Given the description of an element on the screen output the (x, y) to click on. 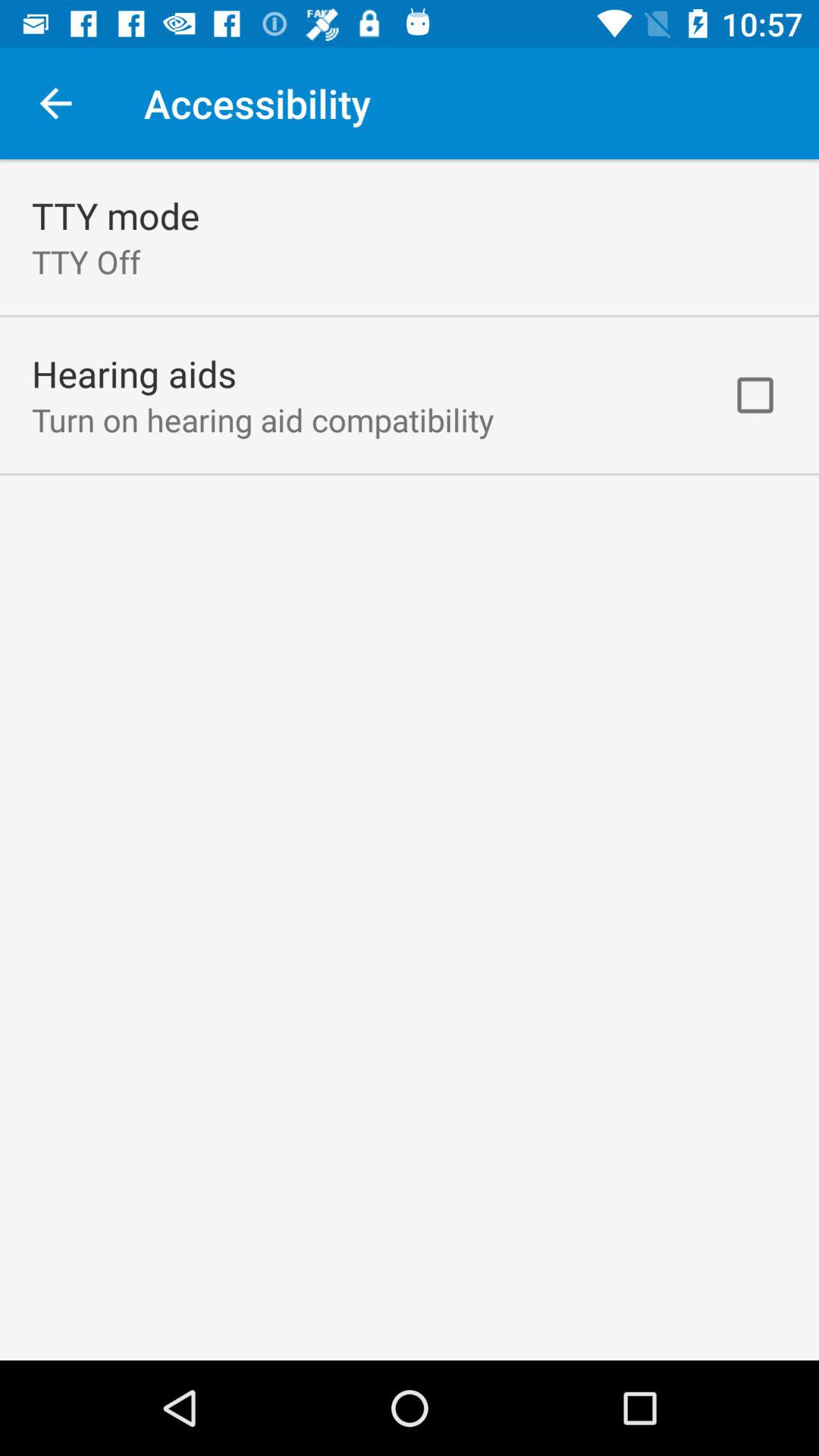
swipe to hearing aids app (133, 373)
